Given the description of an element on the screen output the (x, y) to click on. 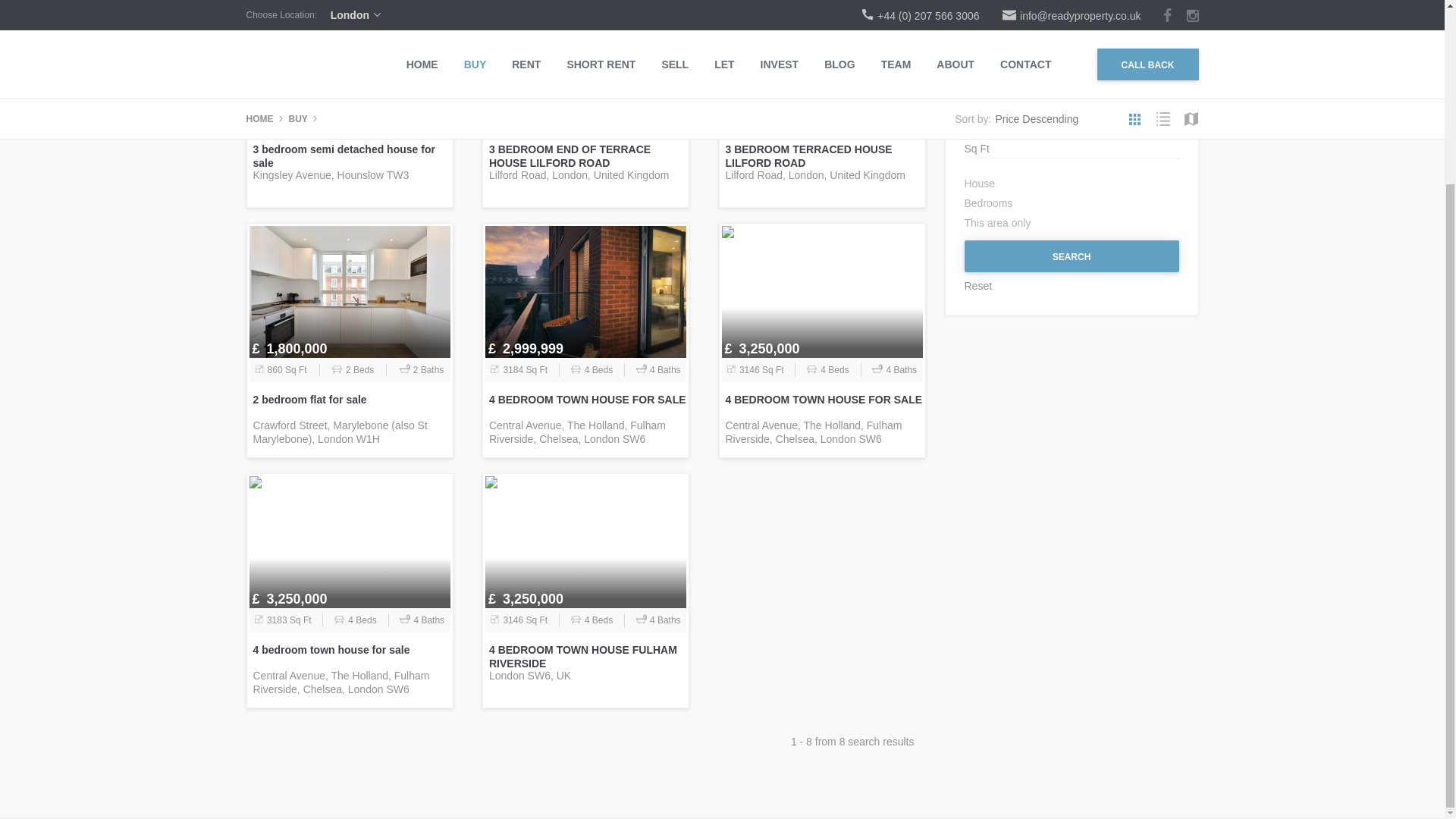
SEARCH (1071, 255)
Reset (1071, 285)
